Given the description of an element on the screen output the (x, y) to click on. 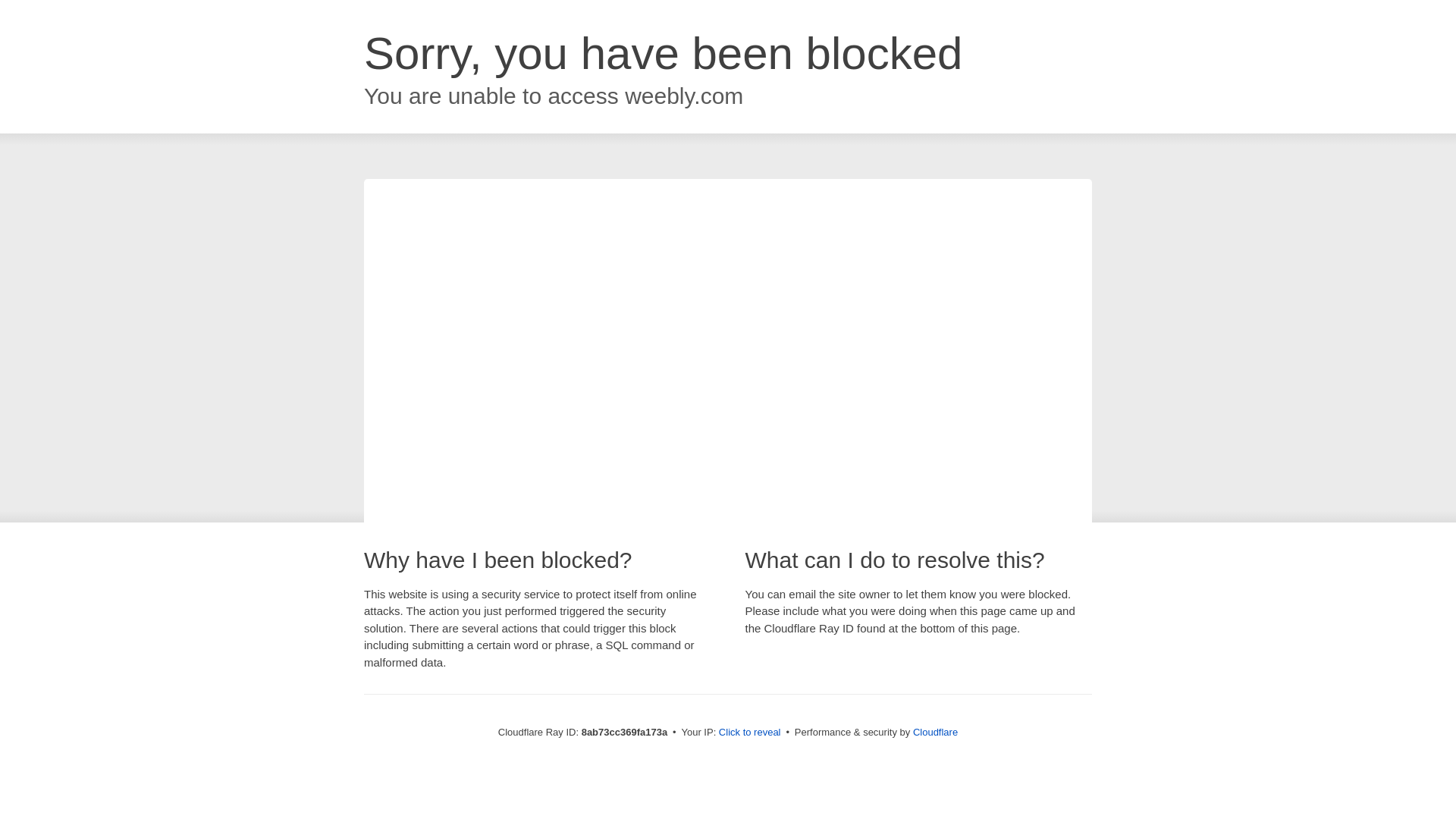
Click to reveal (749, 732)
Cloudflare (935, 731)
